Given the description of an element on the screen output the (x, y) to click on. 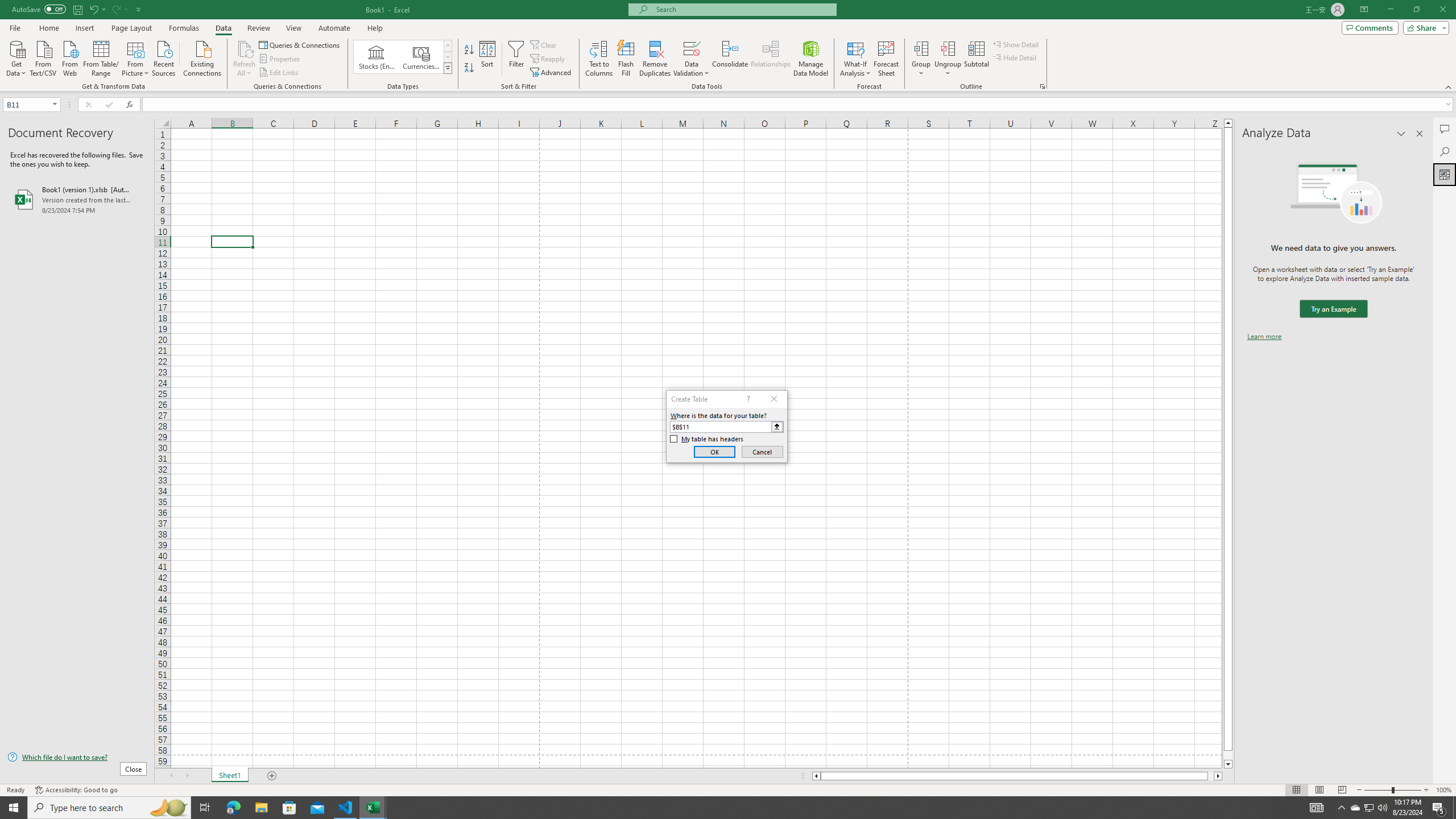
Row Down (448, 56)
Automate (334, 28)
Manage Data Model (810, 58)
Group and Outline Settings (1042, 85)
Sort Z to A (469, 67)
Accessibility Checker Accessibility: Good to go (76, 790)
